Given the description of an element on the screen output the (x, y) to click on. 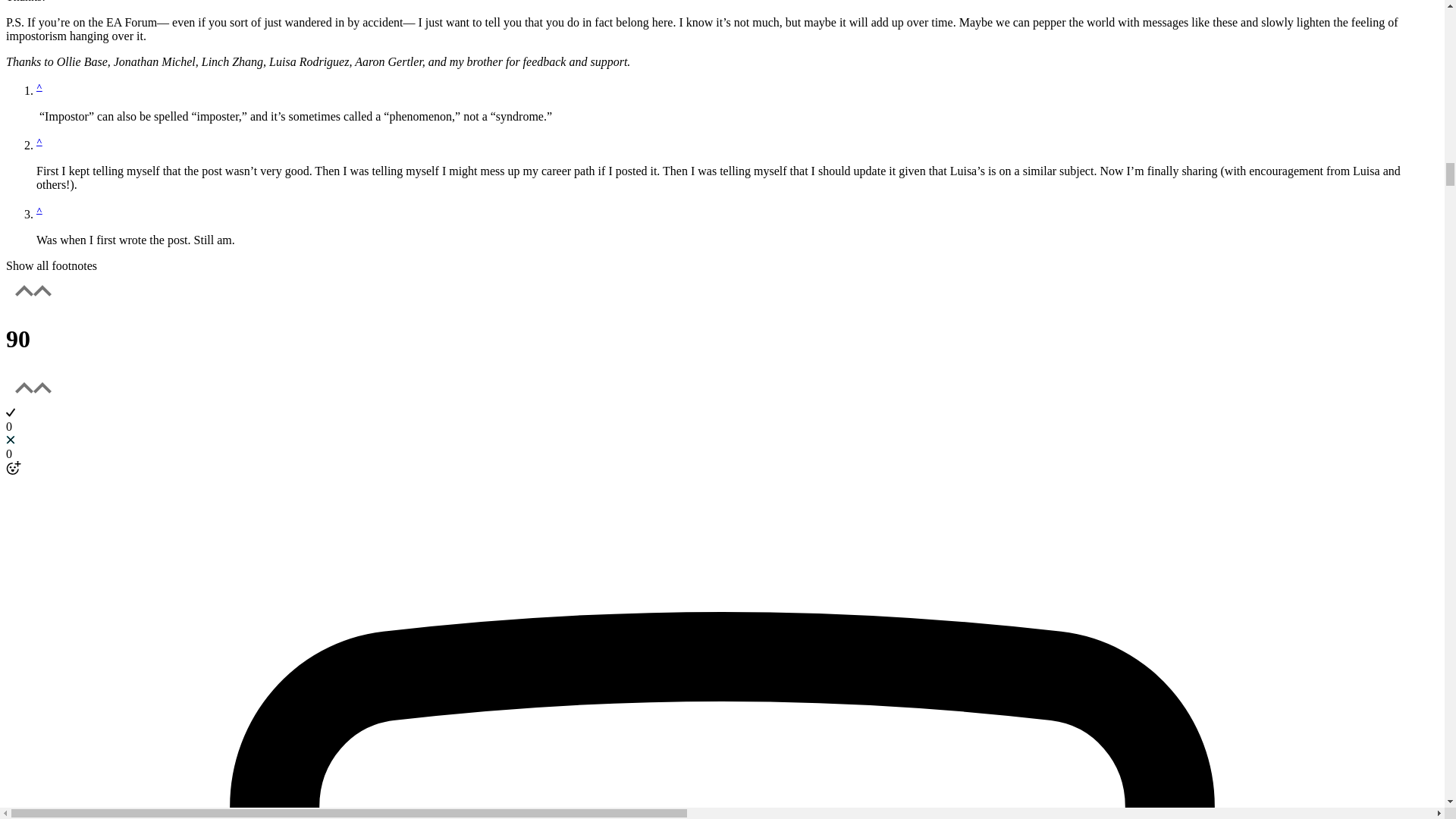
42 Votes (721, 338)
